Given the description of an element on the screen output the (x, y) to click on. 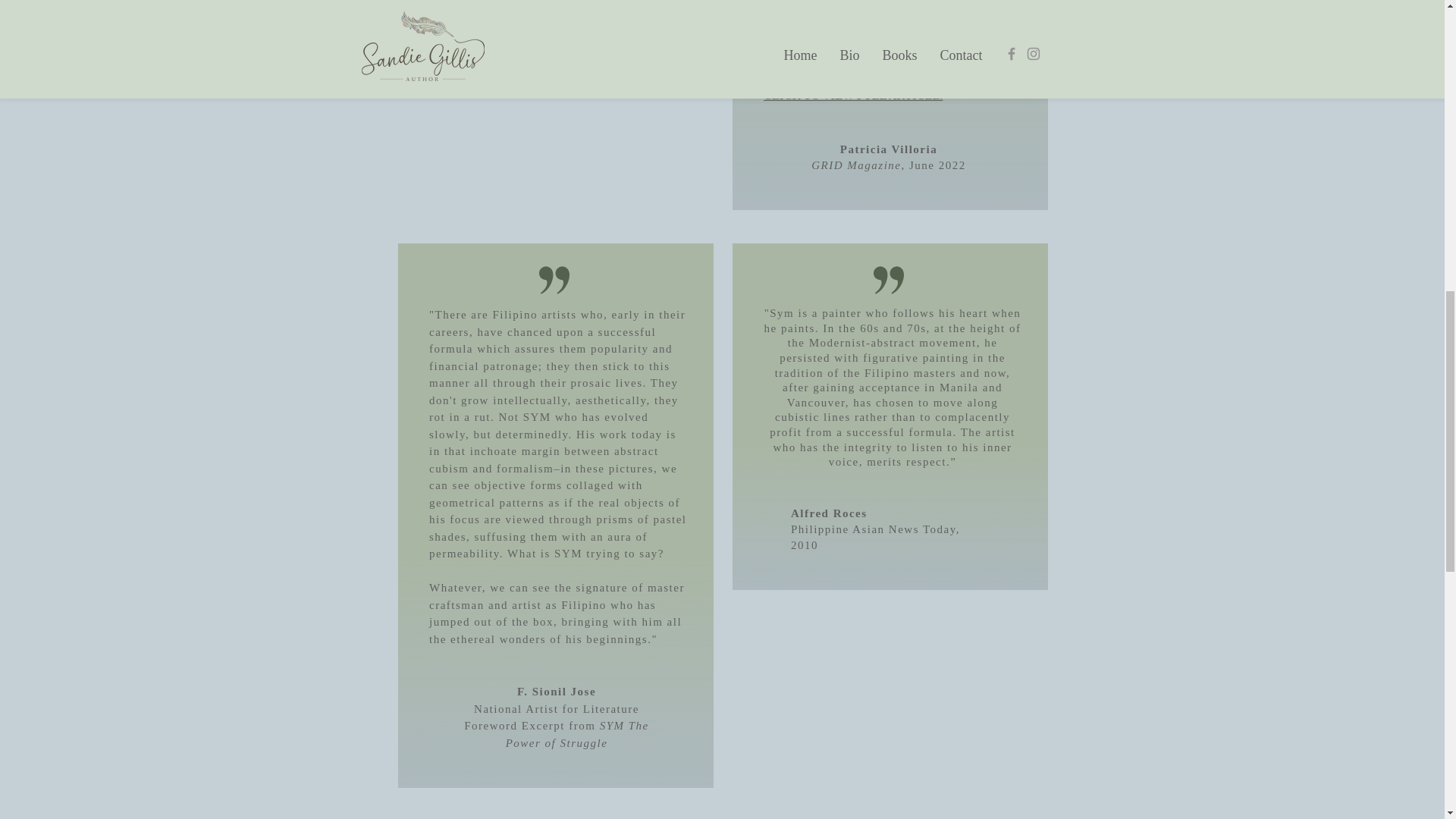
CLICK TO VIEW FULL ARTICLE. (852, 95)
